Given the description of an element on the screen output the (x, y) to click on. 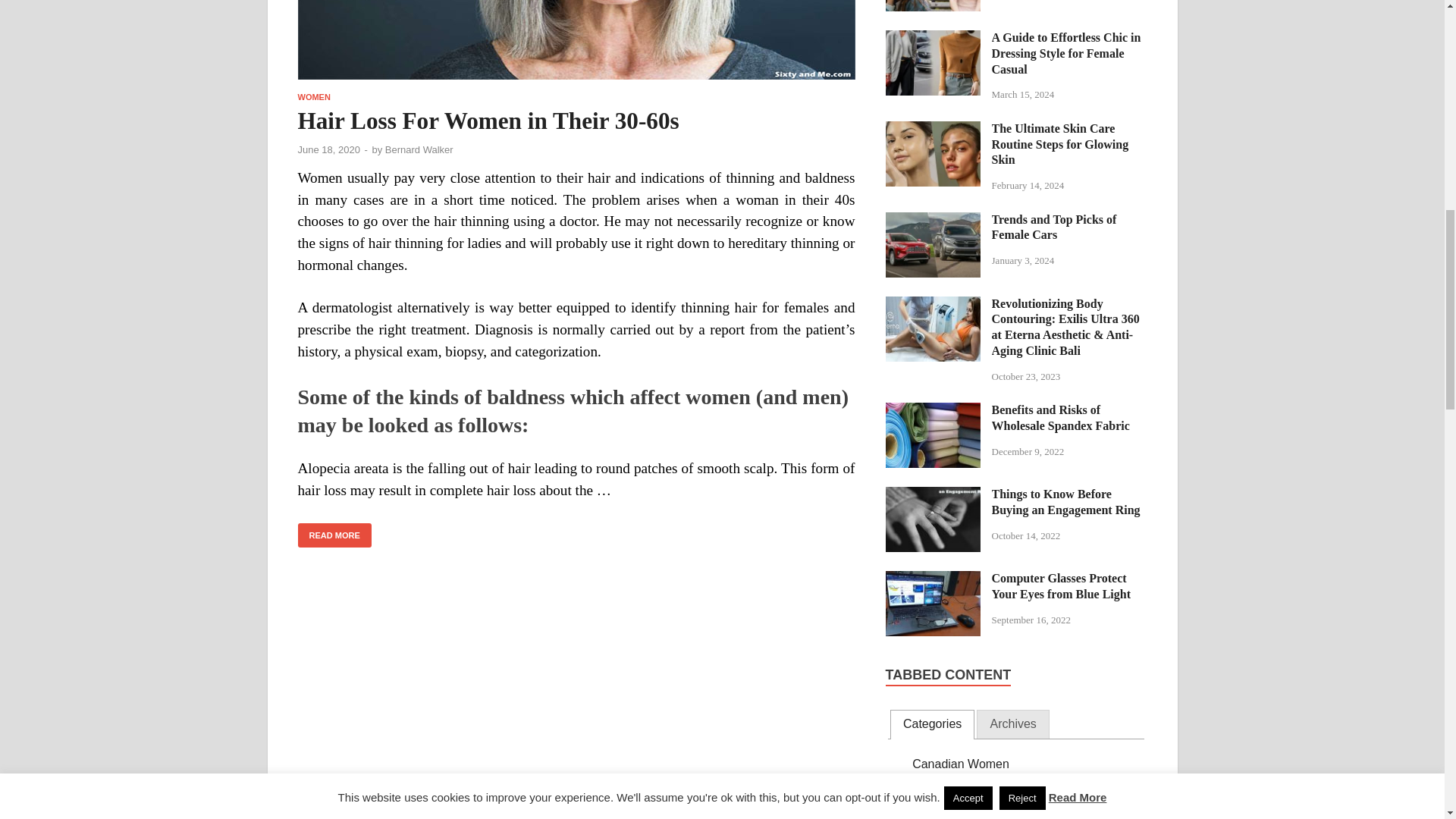
Things to Know Before Buying an Engagement Ring (932, 495)
Computer Glasses Protect Your Eyes from Blue Light (932, 579)
Benefits and Risks of Wholesale Spandex Fabric (932, 410)
Hair Loss For Women in Their 30-60s (575, 46)
The Ultimate Skin Care Routine Steps for Glowing Skin (932, 129)
Trends and Top Picks of Female Cars (932, 220)
